Given the description of an element on the screen output the (x, y) to click on. 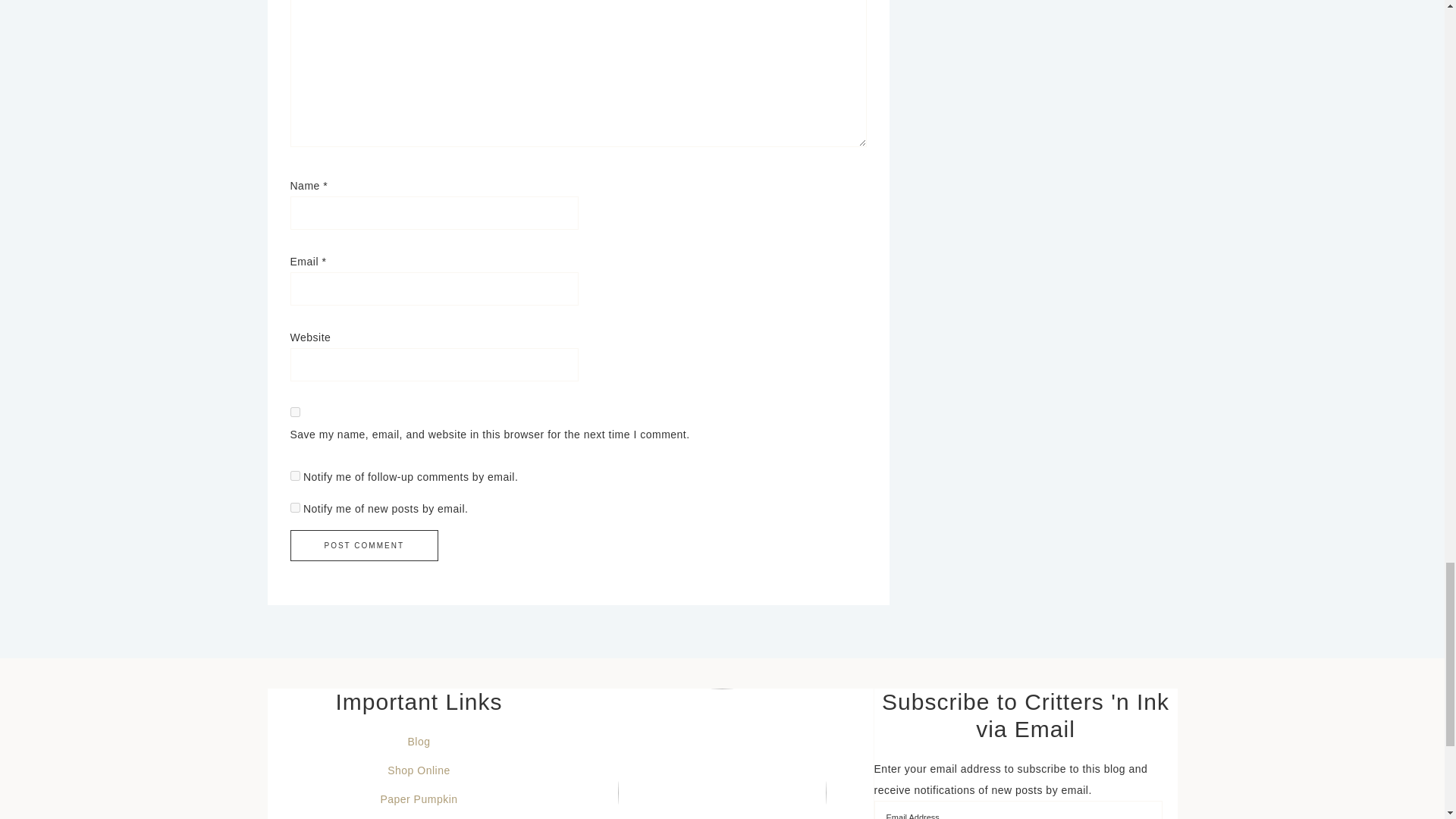
Post Comment (363, 545)
yes (294, 411)
subscribe (294, 475)
subscribe (294, 507)
